Given the description of an element on the screen output the (x, y) to click on. 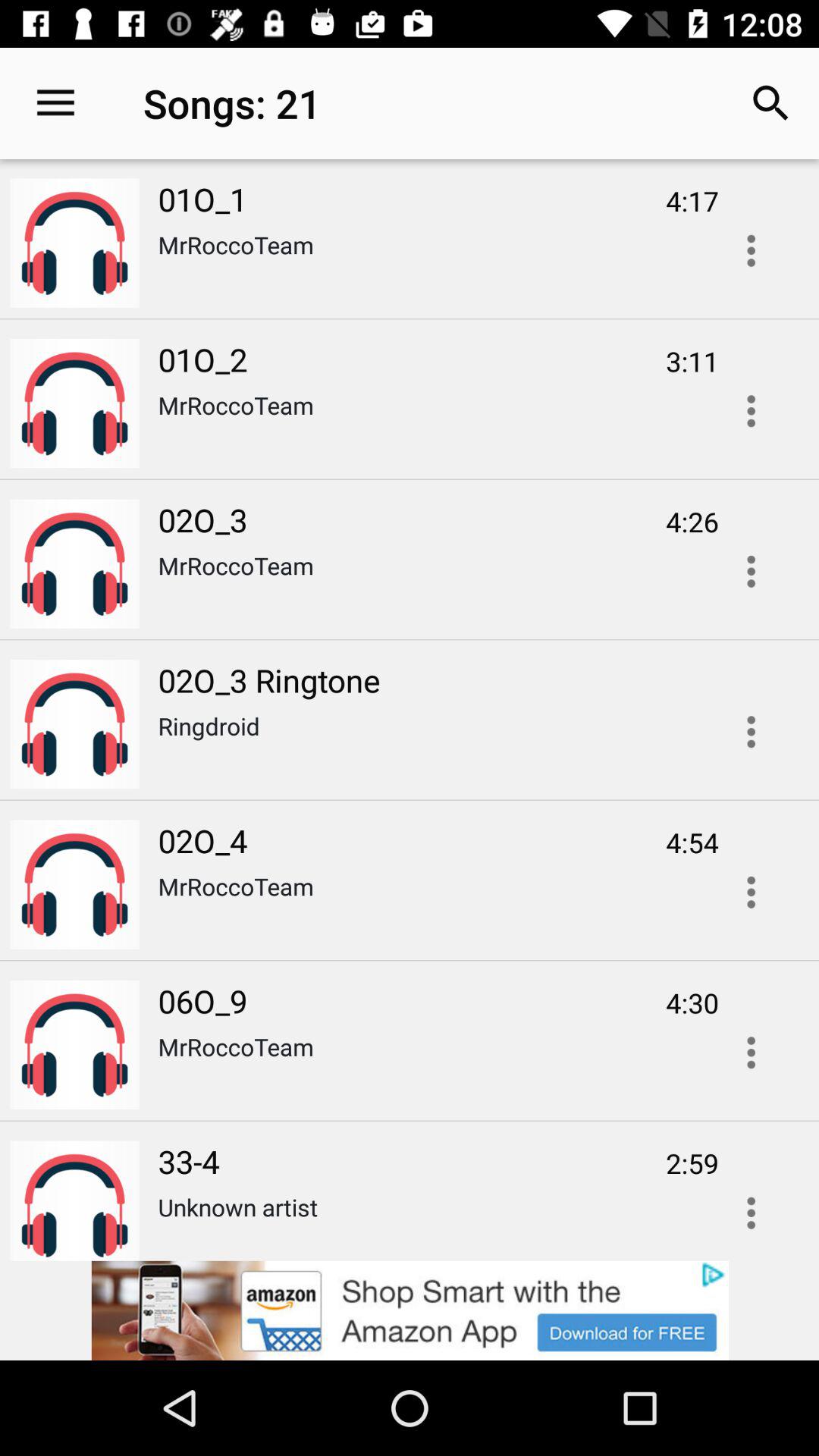
search of the option (750, 410)
